Given the description of an element on the screen output the (x, y) to click on. 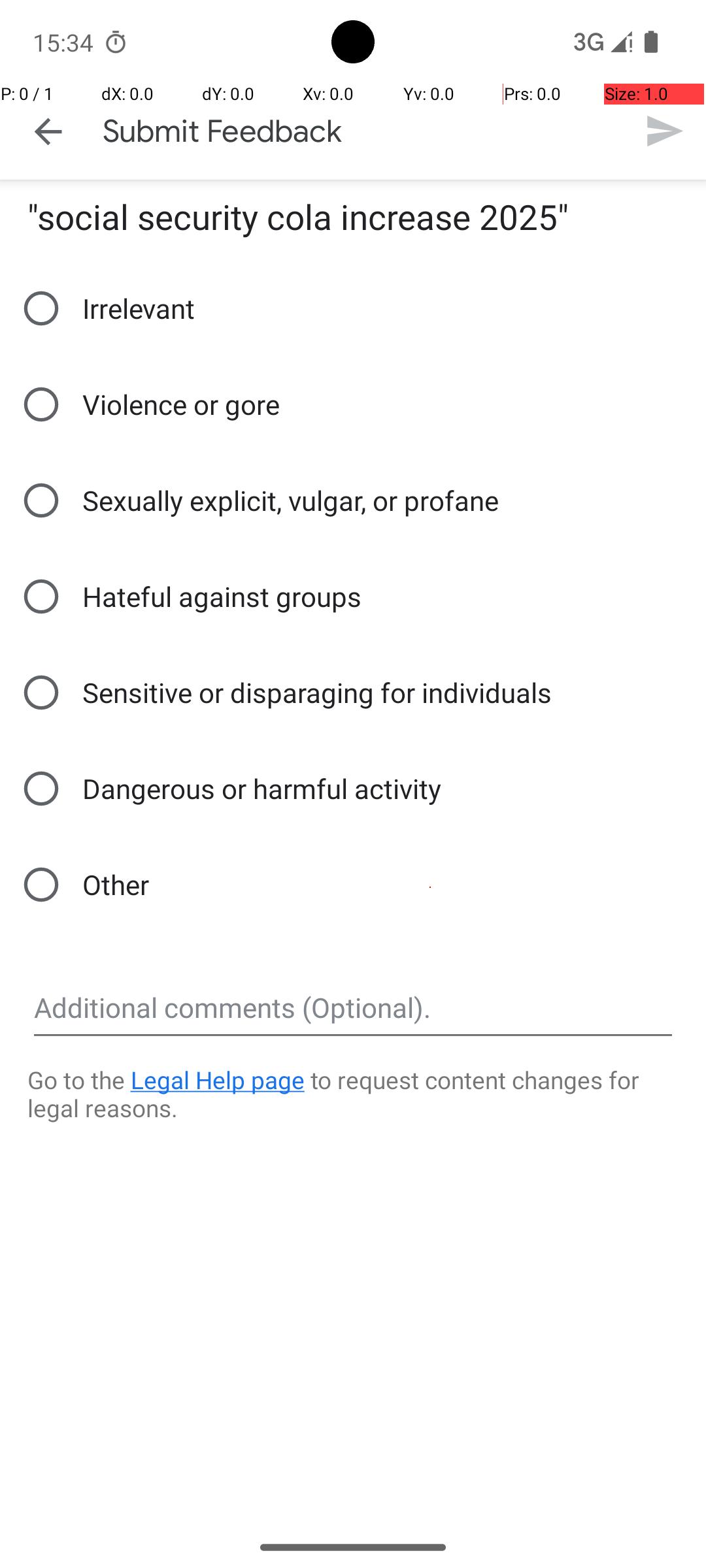
Submit Feedback Element type: android.widget.TextView (221, 130)
Please choose a reason for reporting this item before sending feedback. Send Button. Element type: android.widget.Button (664, 131)
"social security cola increase 2025" Element type: android.widget.TextView (298, 216)
Irrelevant Element type: android.widget.RadioButton (104, 308)
Violence or gore Element type: android.widget.RadioButton (146, 404)
Sexually explicit, vulgar, or profane Element type: android.widget.RadioButton (256, 500)
Hateful against groups Element type: android.widget.RadioButton (187, 596)
Sensitive or disparaging for individuals Element type: android.widget.RadioButton (282, 692)
Dangerous or harmful activity Element type: android.widget.RadioButton (227, 788)
Additional comments (Optional). Element type: android.widget.EditText (352, 1007)
Go to the Legal Help page to request content changes for legal reasons. Element type: android.widget.TextView (352, 1103)
